Given the description of an element on the screen output the (x, y) to click on. 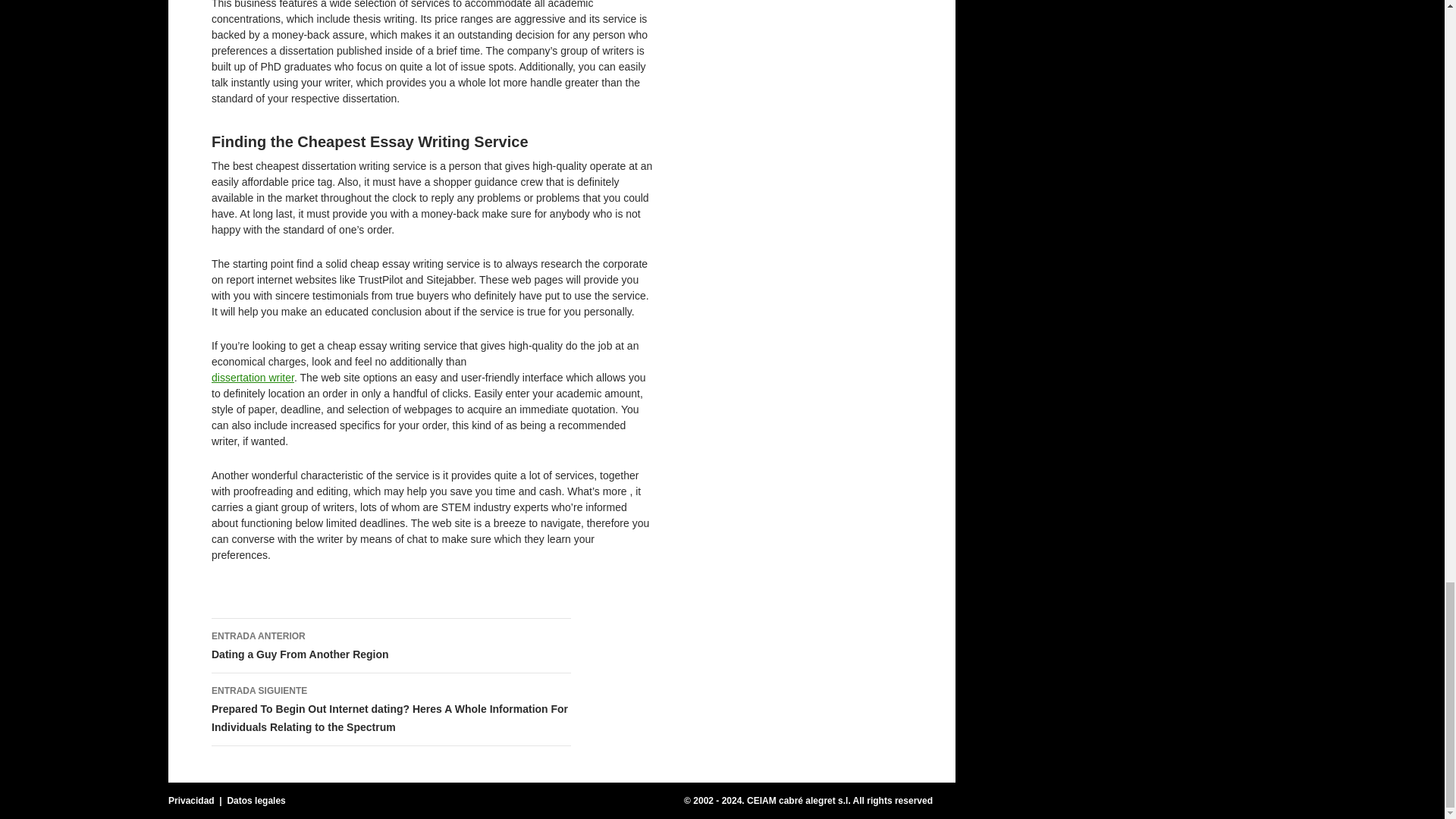
Privacidad (390, 646)
dissertation writer (191, 800)
Datos legales (252, 377)
